Given the description of an element on the screen output the (x, y) to click on. 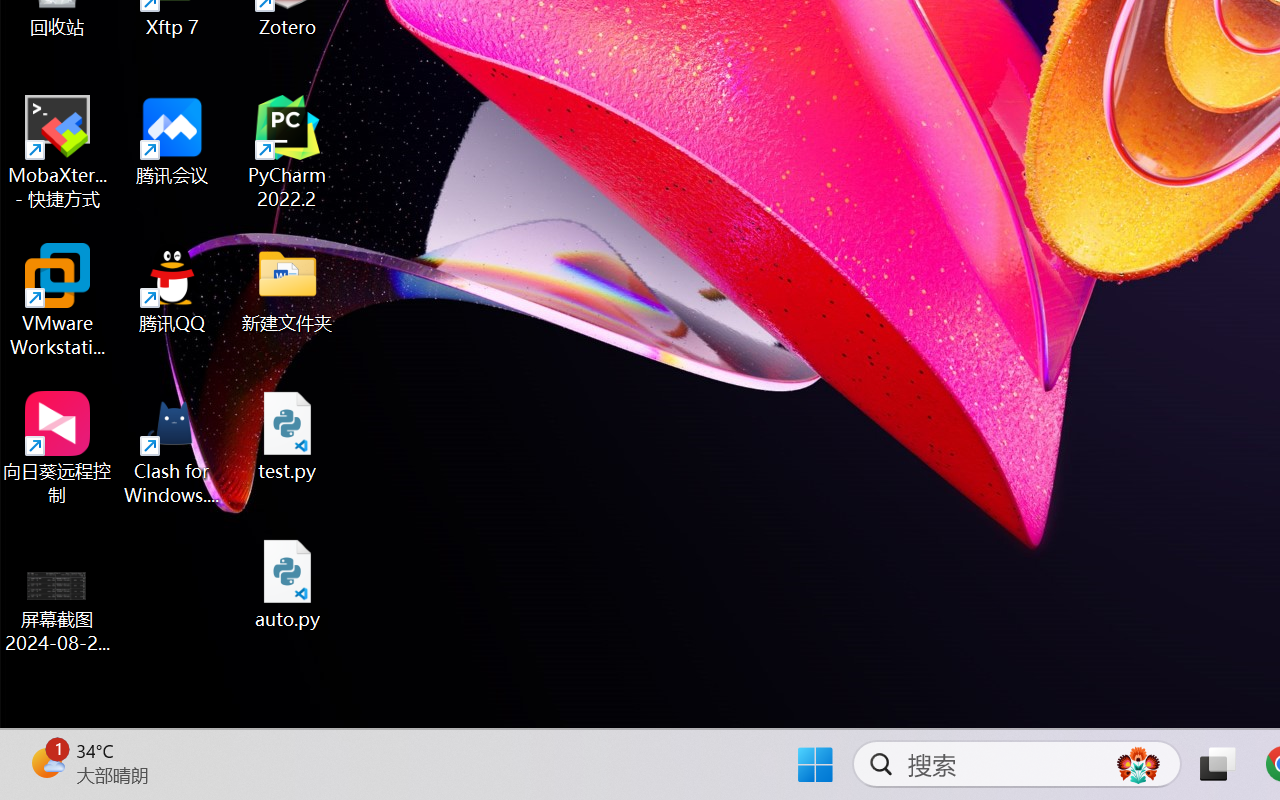
auto.py (287, 584)
